Given the description of an element on the screen output the (x, y) to click on. 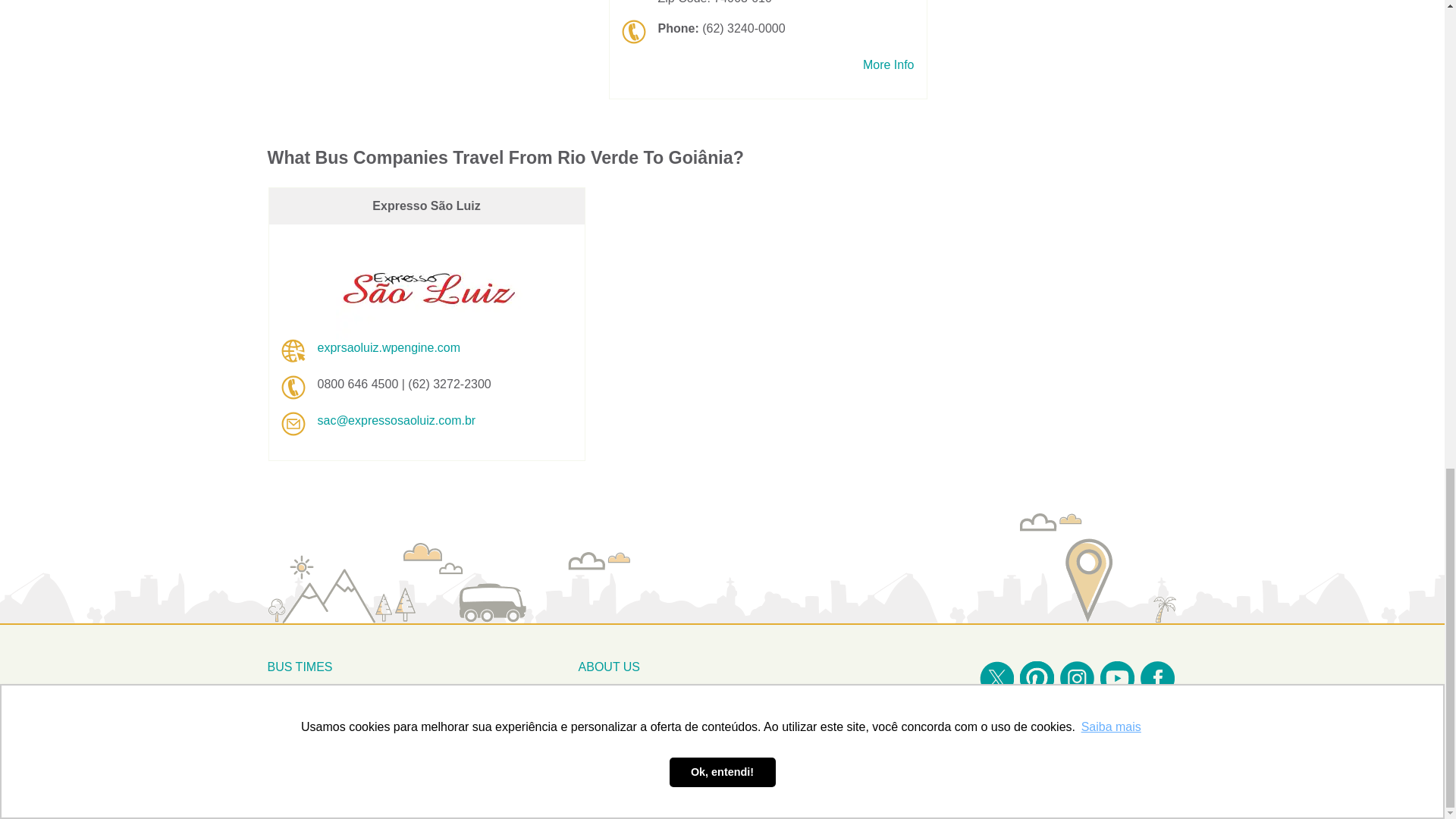
BUS TIMES (300, 666)
BuscaOnibus on Pinterest (1036, 678)
BUS COMPANIES (317, 739)
BuscaOnibus on Facebook (1157, 678)
EVENTS (291, 763)
BuscaOnibus on YouTube (1116, 678)
BuscaOnibus on Instagram (1077, 678)
BUS STATIONS (311, 715)
exprsaoluiz.wpengine.com (388, 348)
DESTINATIONS (311, 690)
More Info (888, 65)
